Given the description of an element on the screen output the (x, y) to click on. 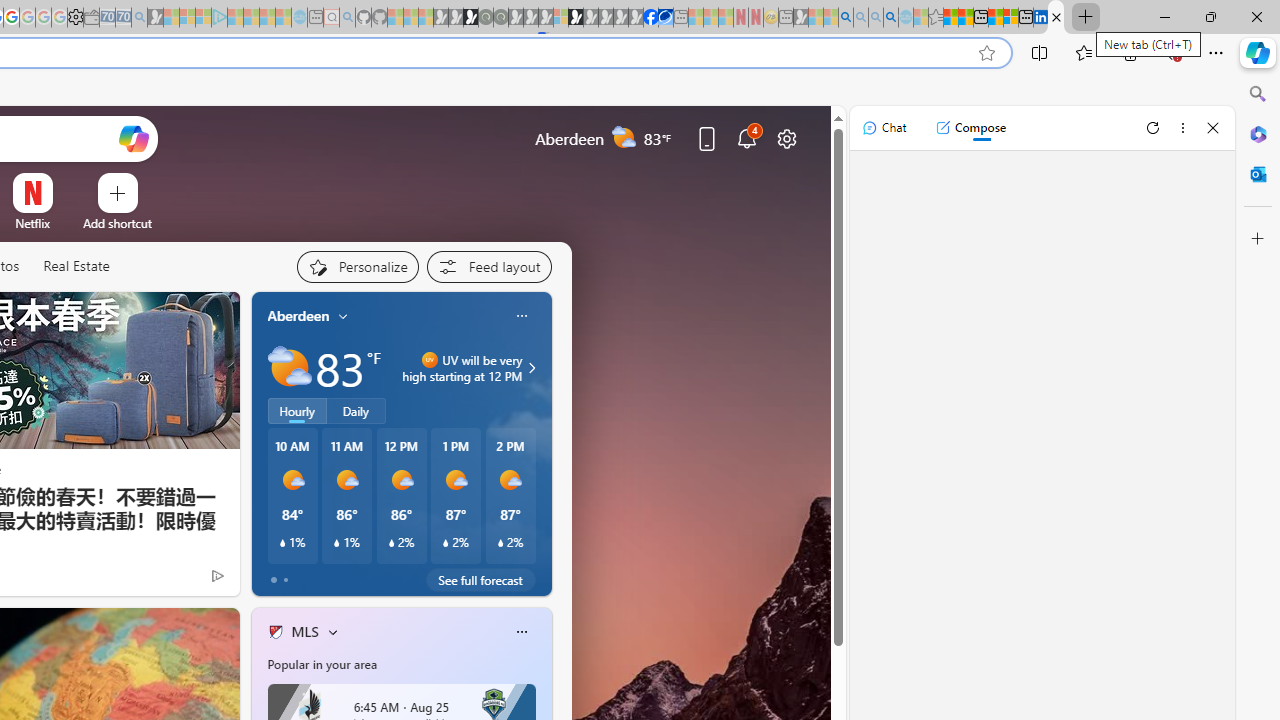
Aberdeen, Hong Kong SAR weather forecast | Microsoft Weather (965, 17)
Class: weather-arrow-glyph (531, 367)
github - Search - Sleeping (347, 17)
